Given the description of an element on the screen output the (x, y) to click on. 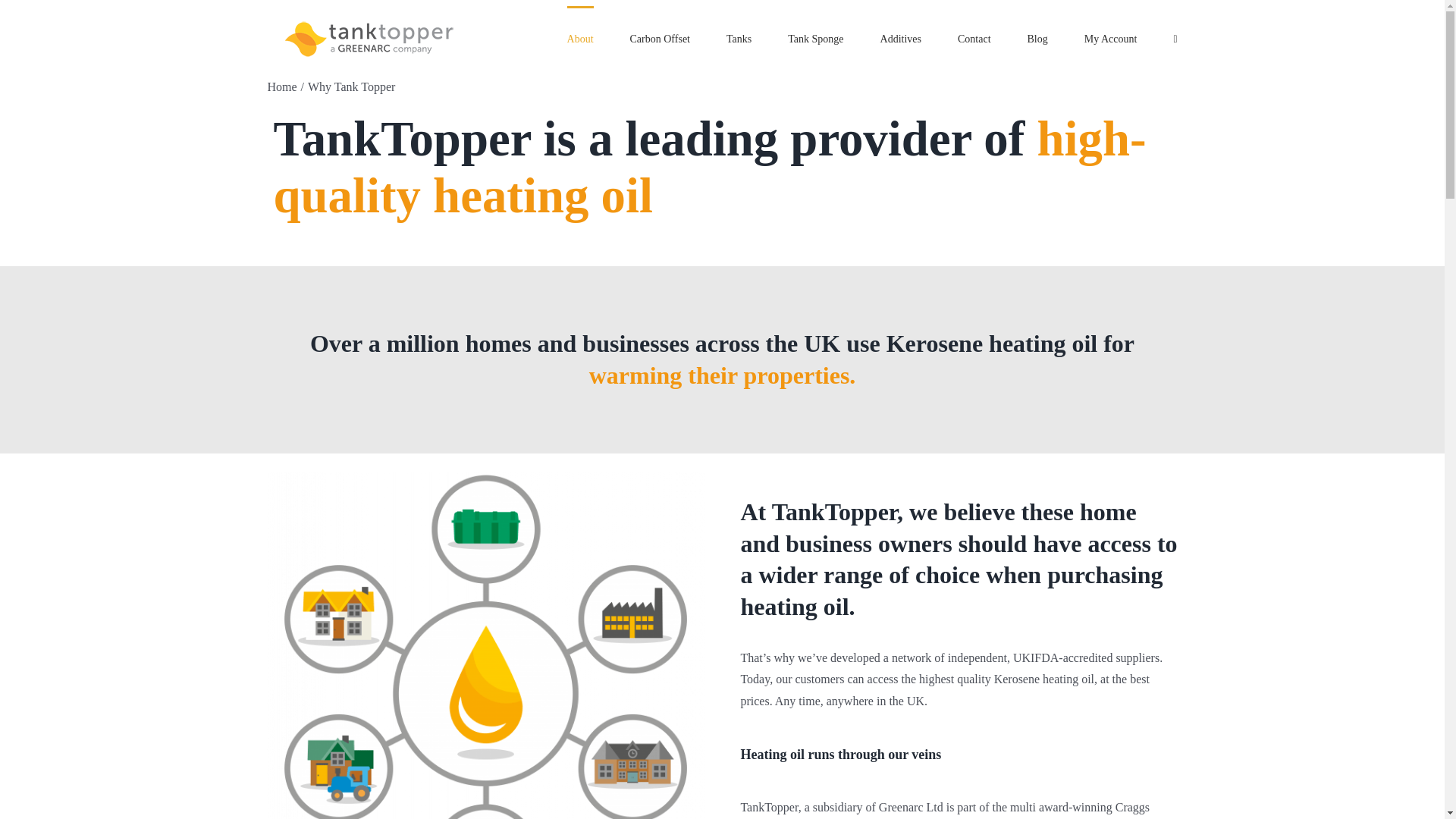
Carbon Offset (660, 37)
Home (281, 86)
